Given the description of an element on the screen output the (x, y) to click on. 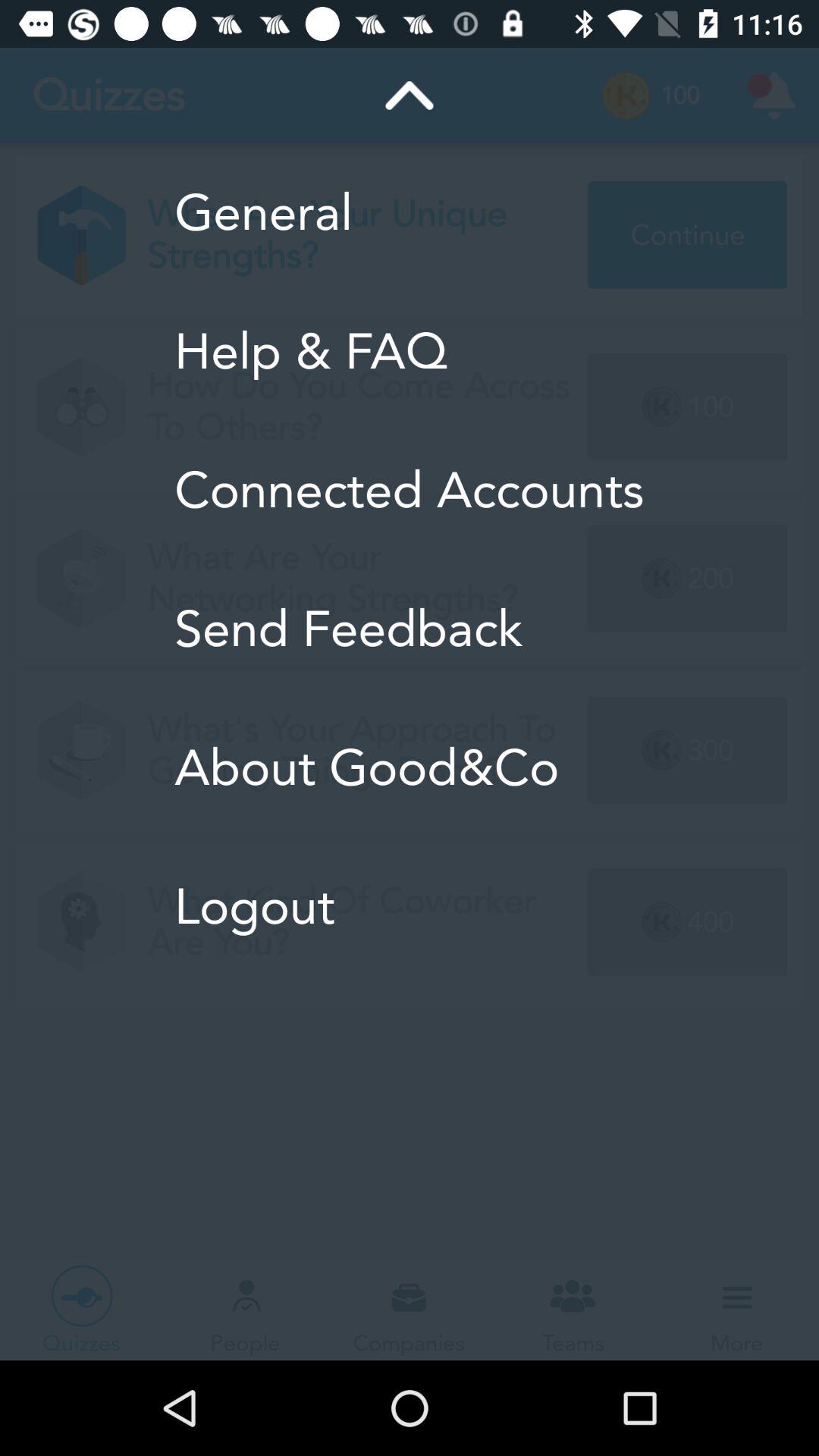
choose icon above help & faq item (408, 212)
